Given the description of an element on the screen output the (x, y) to click on. 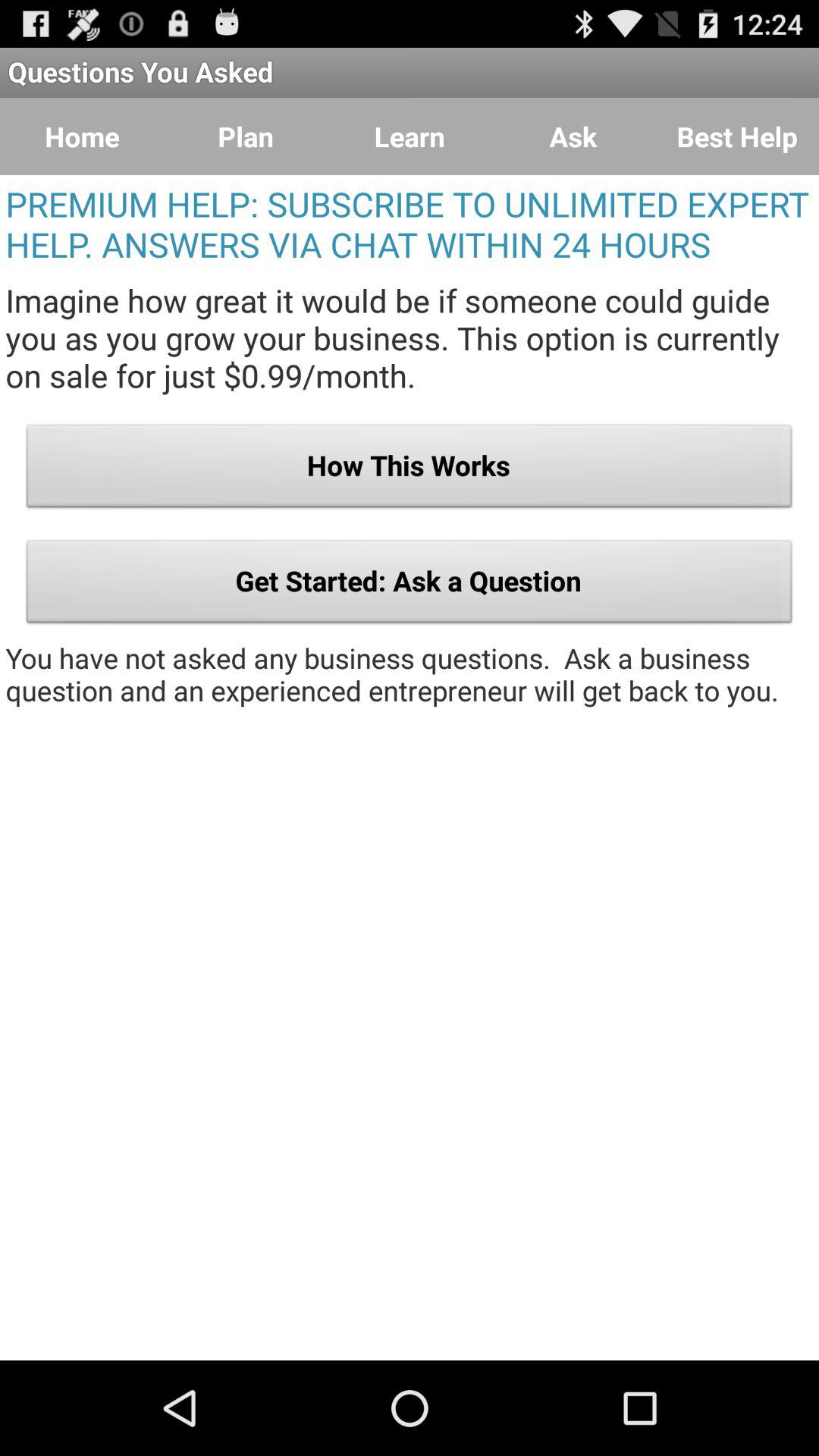
launch the item below how this works icon (409, 585)
